Given the description of an element on the screen output the (x, y) to click on. 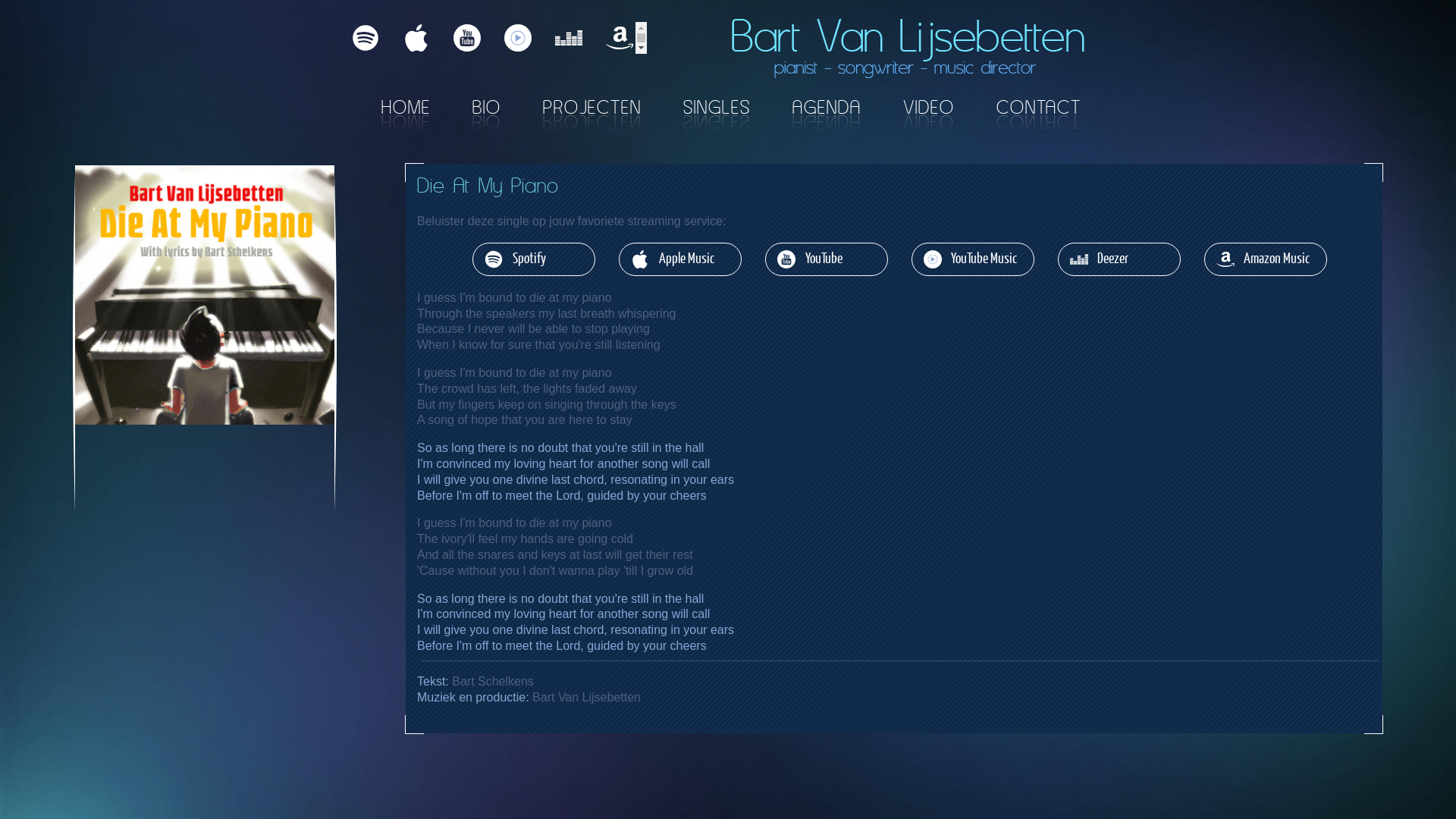
PROJECTEN Element type: text (591, 106)
YouTube Music Element type: text (972, 259)
Spotify Element type: text (533, 259)
Spotify Element type: hover (365, 37)
Amazon Music Element type: text (1265, 259)
YouTube Element type: hover (466, 37)
HOME Element type: text (405, 106)
Deezer Element type: hover (568, 37)
AGENDA Element type: text (826, 106)
Apple Music Element type: hover (415, 37)
CONTACT Element type: text (1038, 106)
Amazon Music Element type: hover (619, 37)
Apple Music Element type: text (679, 259)
YouTube Element type: text (826, 259)
YouTube Music Element type: hover (517, 37)
SINGLES Element type: text (716, 106)
BIO Element type: text (486, 106)
Deezer Element type: text (1118, 259)
VIDEO Element type: text (928, 106)
